Given the description of an element on the screen output the (x, y) to click on. 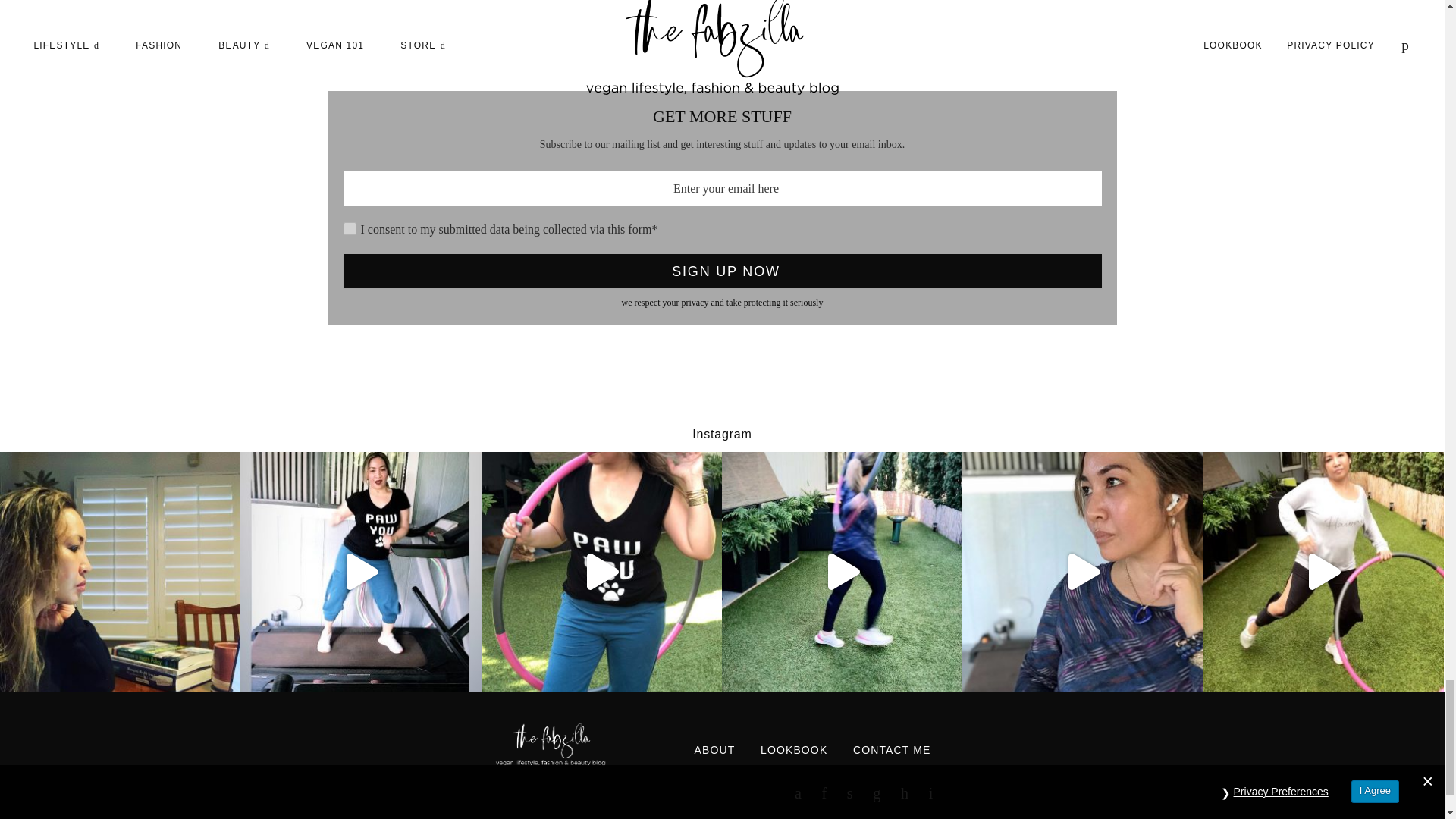
on (348, 228)
Sign Up Now (721, 270)
